Given the description of an element on the screen output the (x, y) to click on. 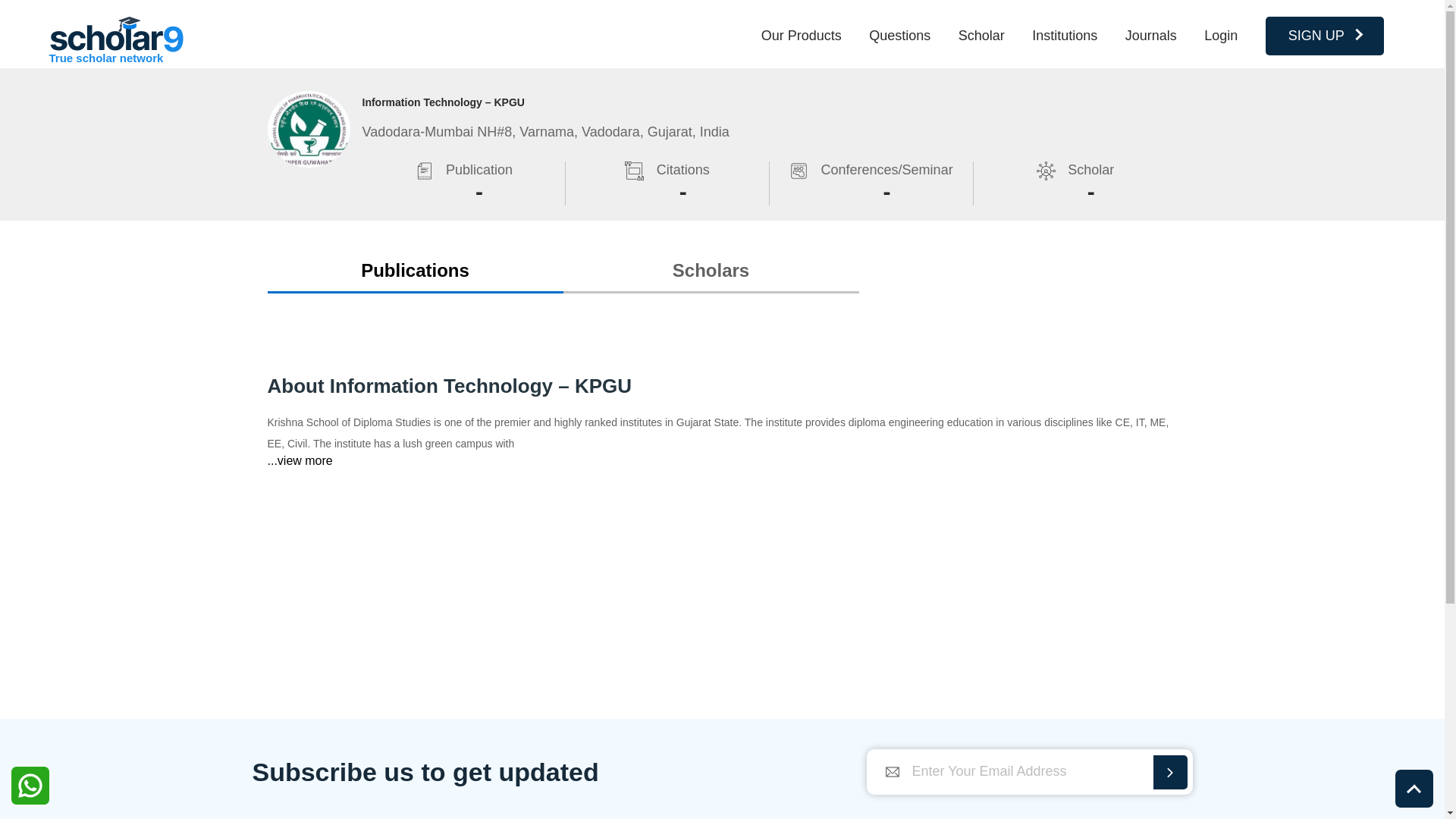
SIGN UP (1324, 35)
submit (1169, 772)
Institutions (1064, 35)
Publications (414, 270)
Questions (899, 35)
logo (116, 34)
Scholars (710, 270)
Login (1220, 35)
submit (1169, 772)
Scholar (981, 35)
